Given the description of an element on the screen output the (x, y) to click on. 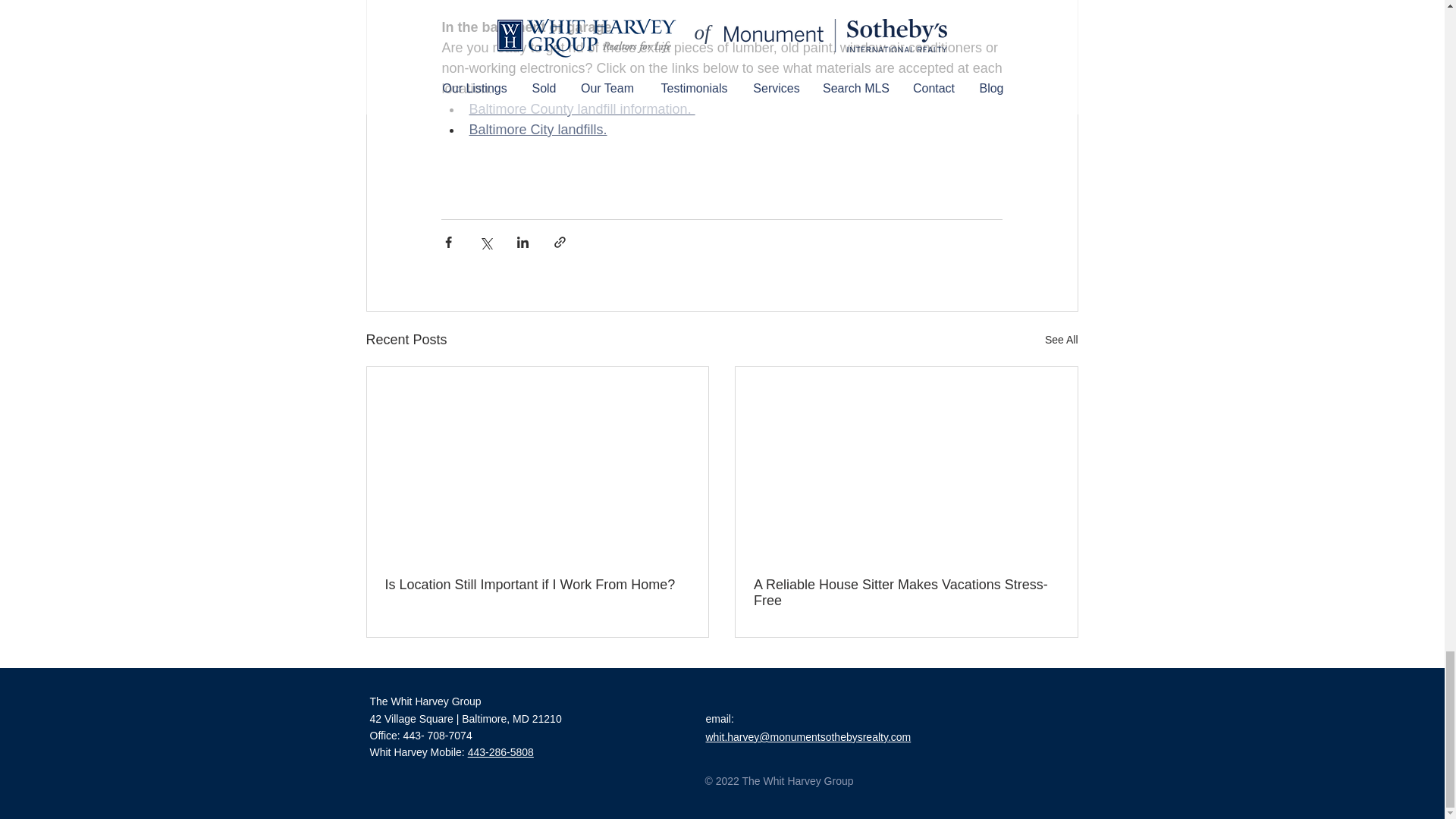
Baltimore City landfills. (537, 129)
See All (1061, 340)
Is Location Still Important if I Work From Home? (537, 584)
Baltimore County landfill information.  (581, 109)
